Given the description of an element on the screen output the (x, y) to click on. 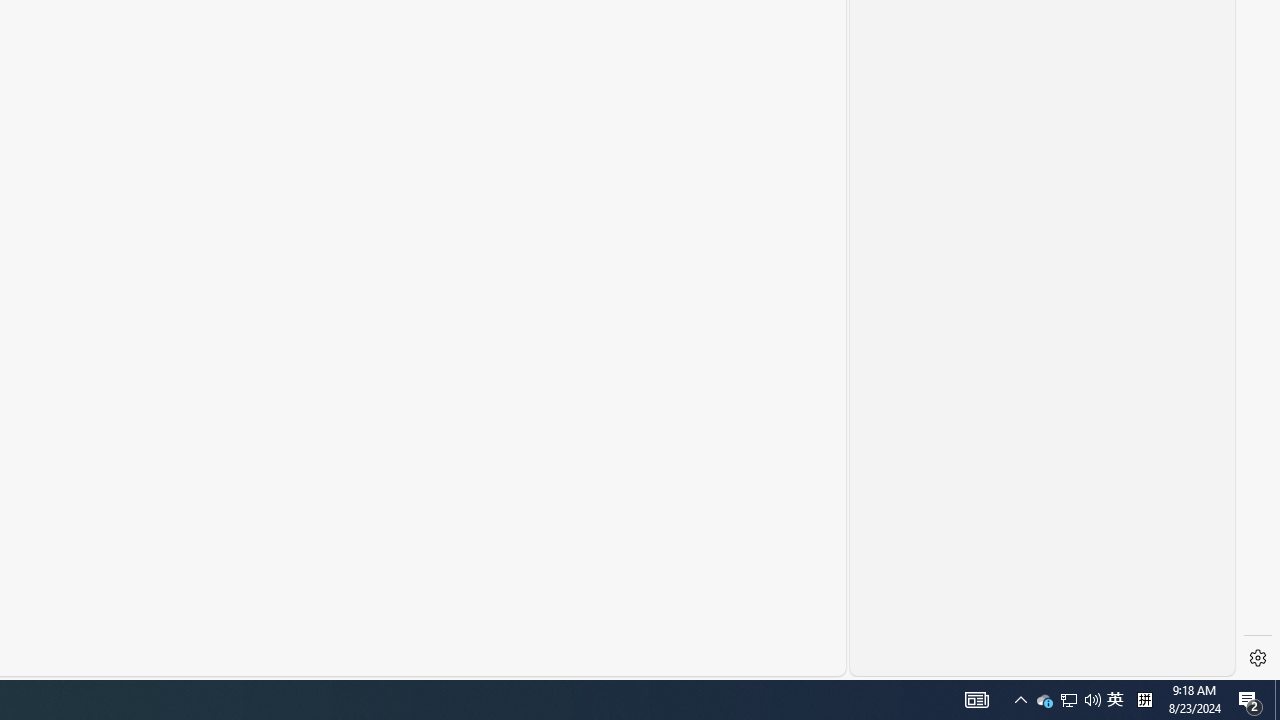
Action Center, 2 new notifications (1250, 699)
Q2790: 100% (1092, 699)
Tray Input Indicator - Chinese (Simplified, China) (1144, 699)
AutomationID: 4105 (976, 699)
Show desktop (1277, 699)
Notification Chevron (1115, 699)
User Promoted Notification Area (1020, 699)
